Given the description of an element on the screen output the (x, y) to click on. 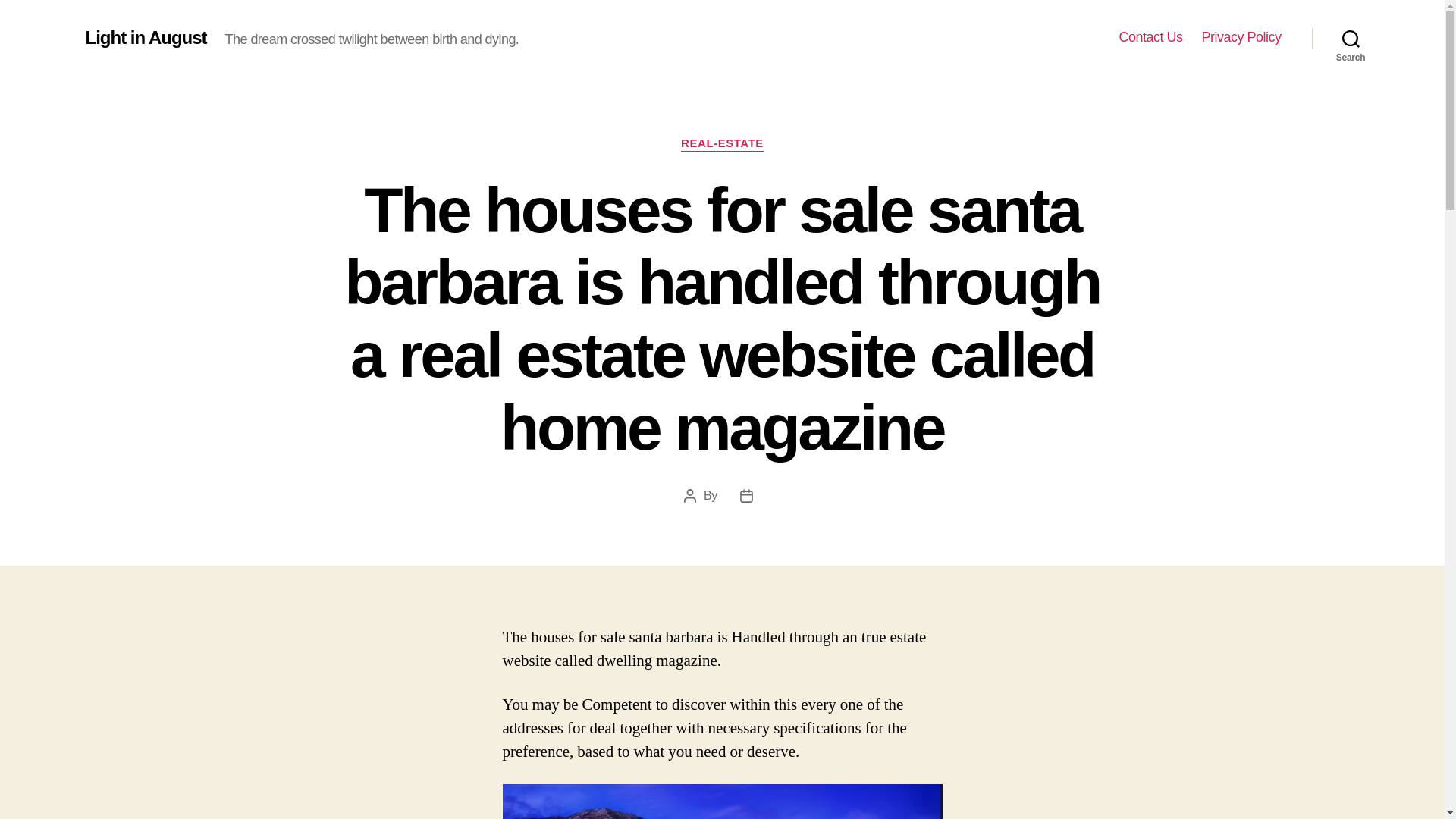
Contact Us (1150, 37)
Light in August (145, 37)
REAL-ESTATE (721, 143)
Search (1350, 37)
Privacy Policy (1241, 37)
